Given the description of an element on the screen output the (x, y) to click on. 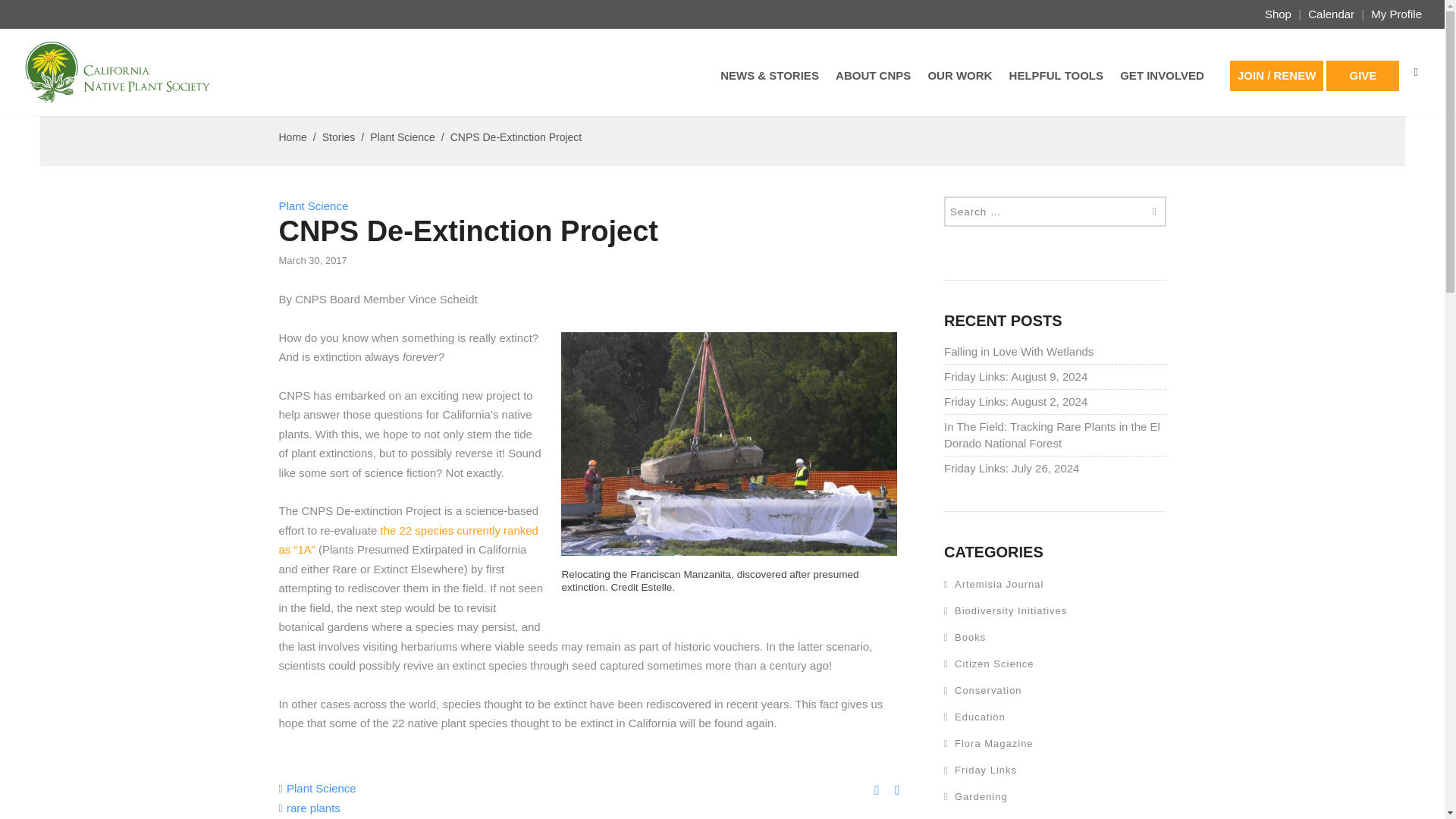
OUR WORK (959, 88)
ABOUT CNPS (873, 88)
Shop (1277, 13)
Calendar (1331, 13)
